Given the description of an element on the screen output the (x, y) to click on. 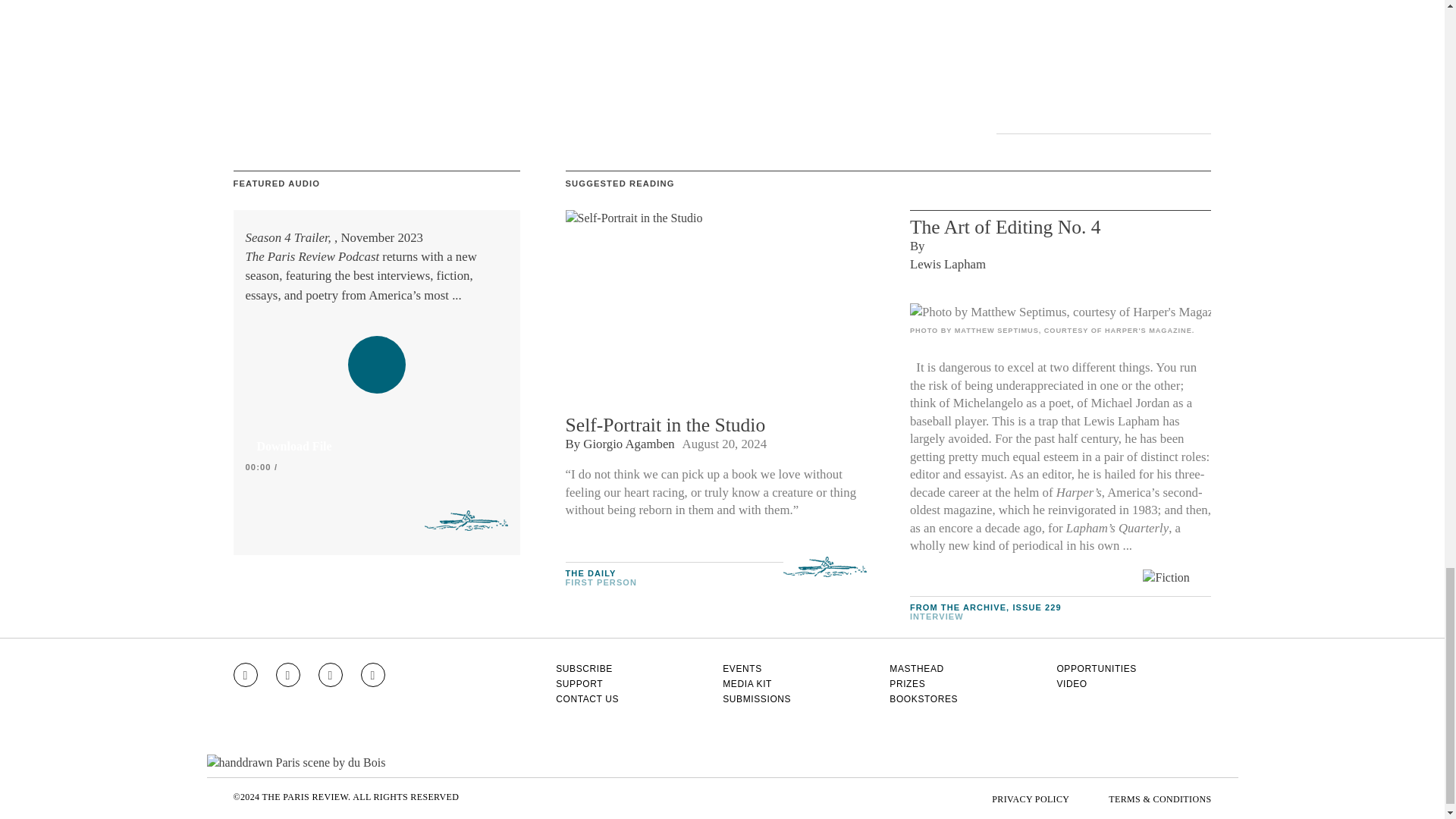
Go to RSS feed (373, 674)
Go to Facebook page (287, 674)
Go to Twitter feed (330, 674)
Go to Instagram feed (244, 674)
undefined (1060, 312)
